Given the description of an element on the screen output the (x, y) to click on. 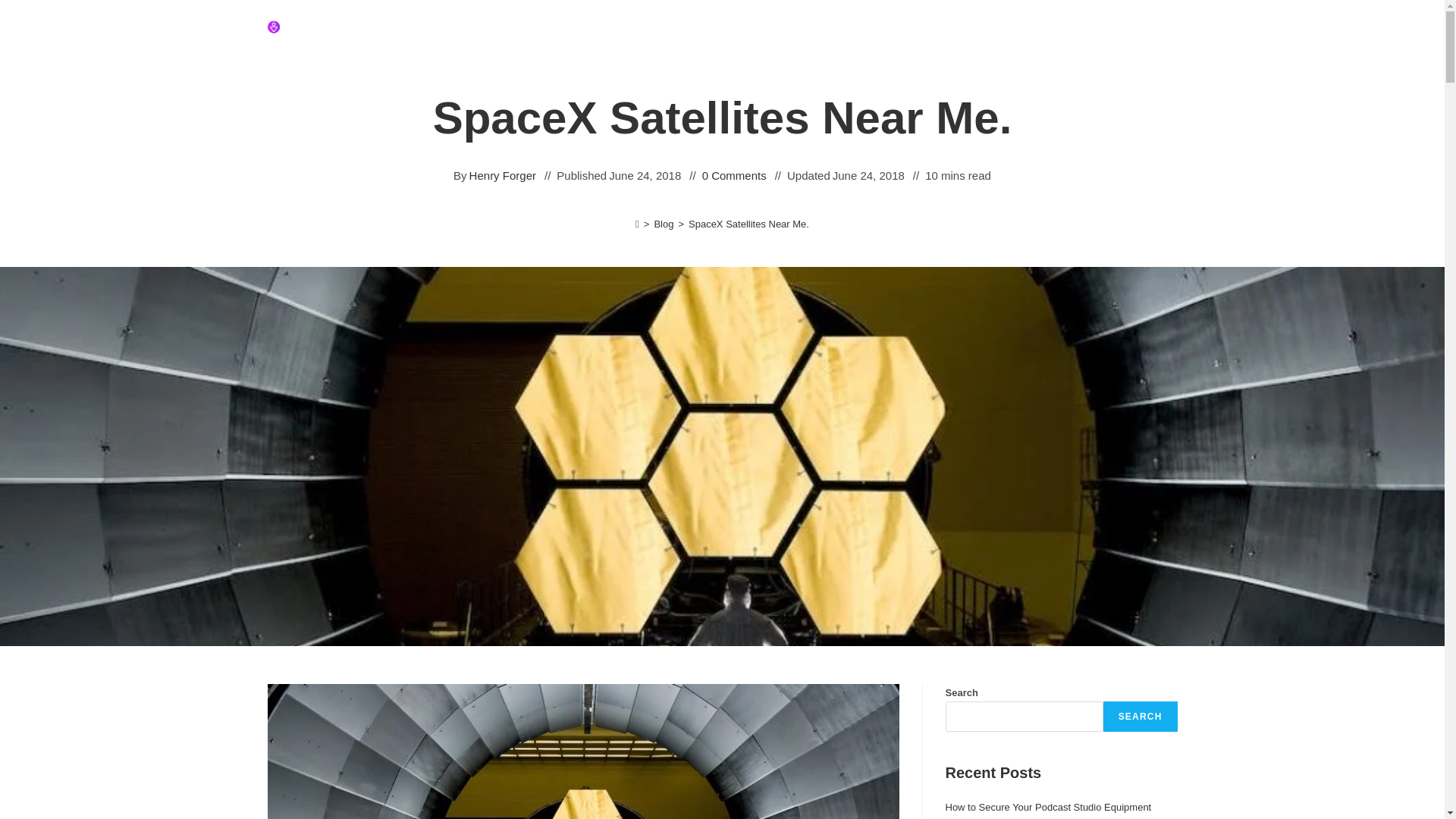
Blog (662, 224)
Henry Forger (501, 175)
0 Comments (734, 175)
SpaceX Satellites Near Me. (748, 224)
